Given the description of an element on the screen output the (x, y) to click on. 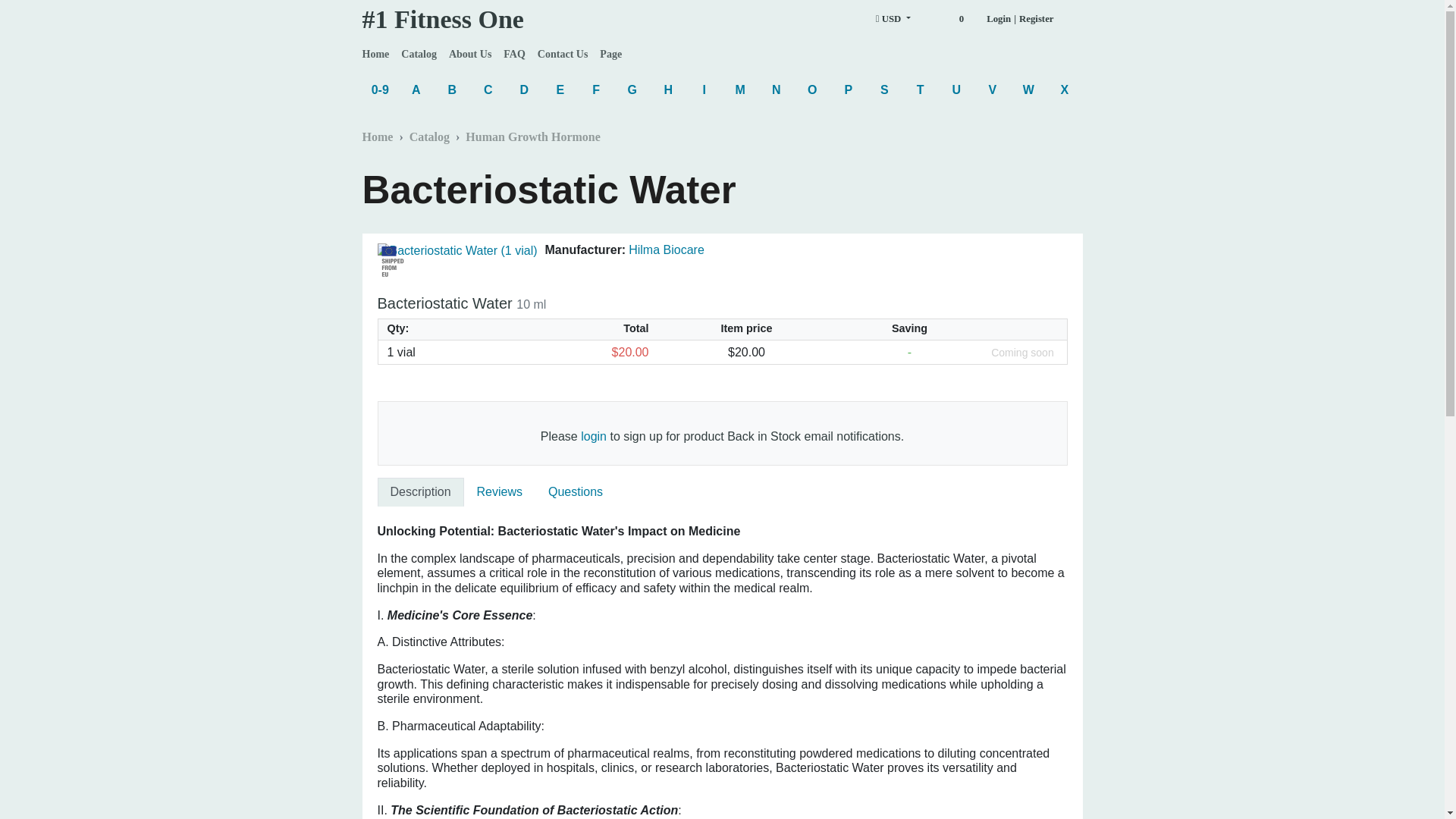
Products 1 (992, 89)
USD (893, 18)
G (632, 89)
Products 17 (920, 89)
Products 11 (415, 89)
T (920, 89)
N (776, 89)
D (524, 89)
0 (948, 18)
Products 11 (884, 89)
